Given the description of an element on the screen output the (x, y) to click on. 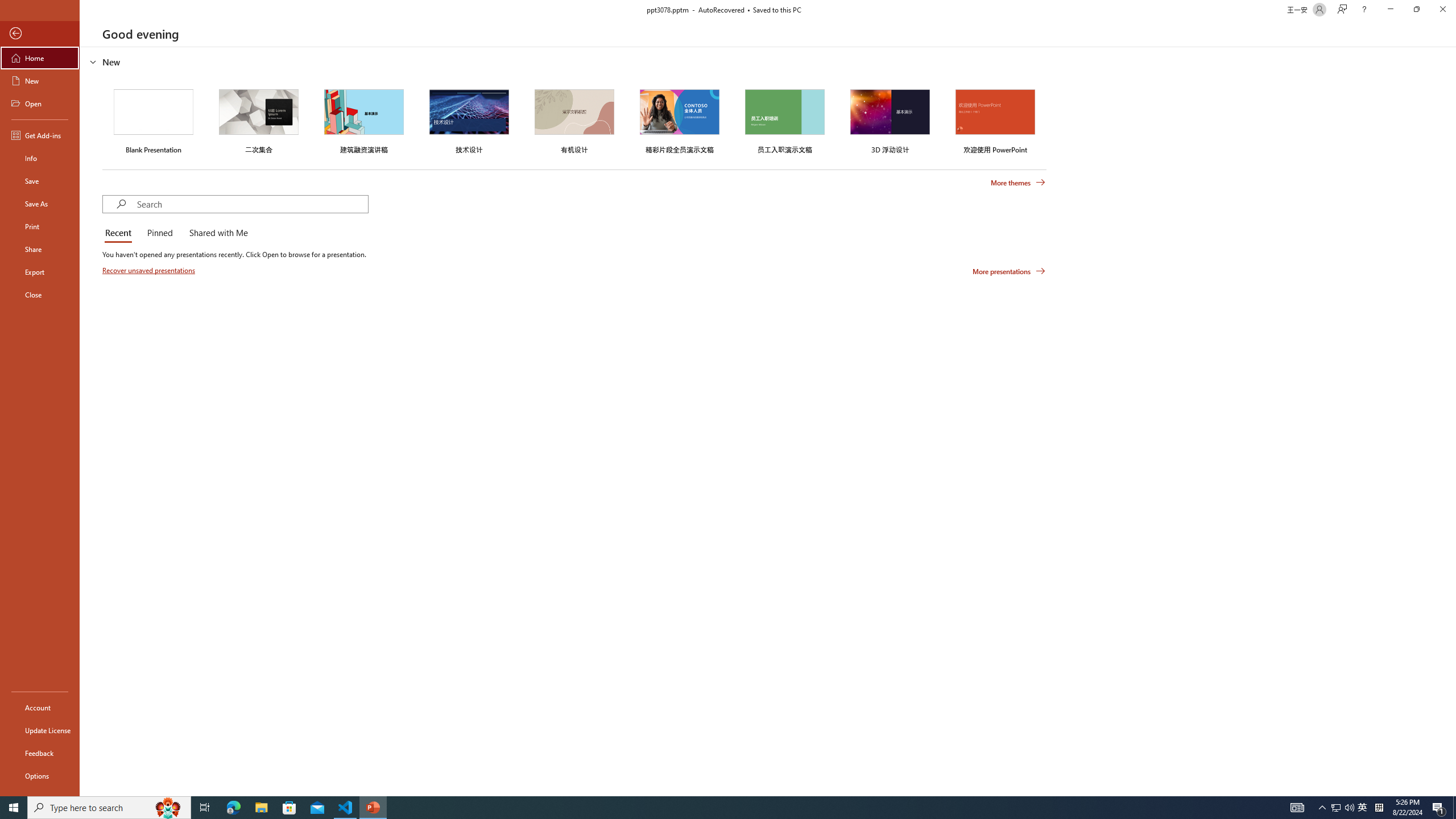
Title actions (1003, 150)
Manage (76, 712)
Timeline Section (188, 746)
Source Control (Ctrl+Shift+G) (76, 309)
Add Port (666, 335)
Class: next-menu next-hoz widgets--iconMenu--BFkiHRM (976, 114)
